Given the description of an element on the screen output the (x, y) to click on. 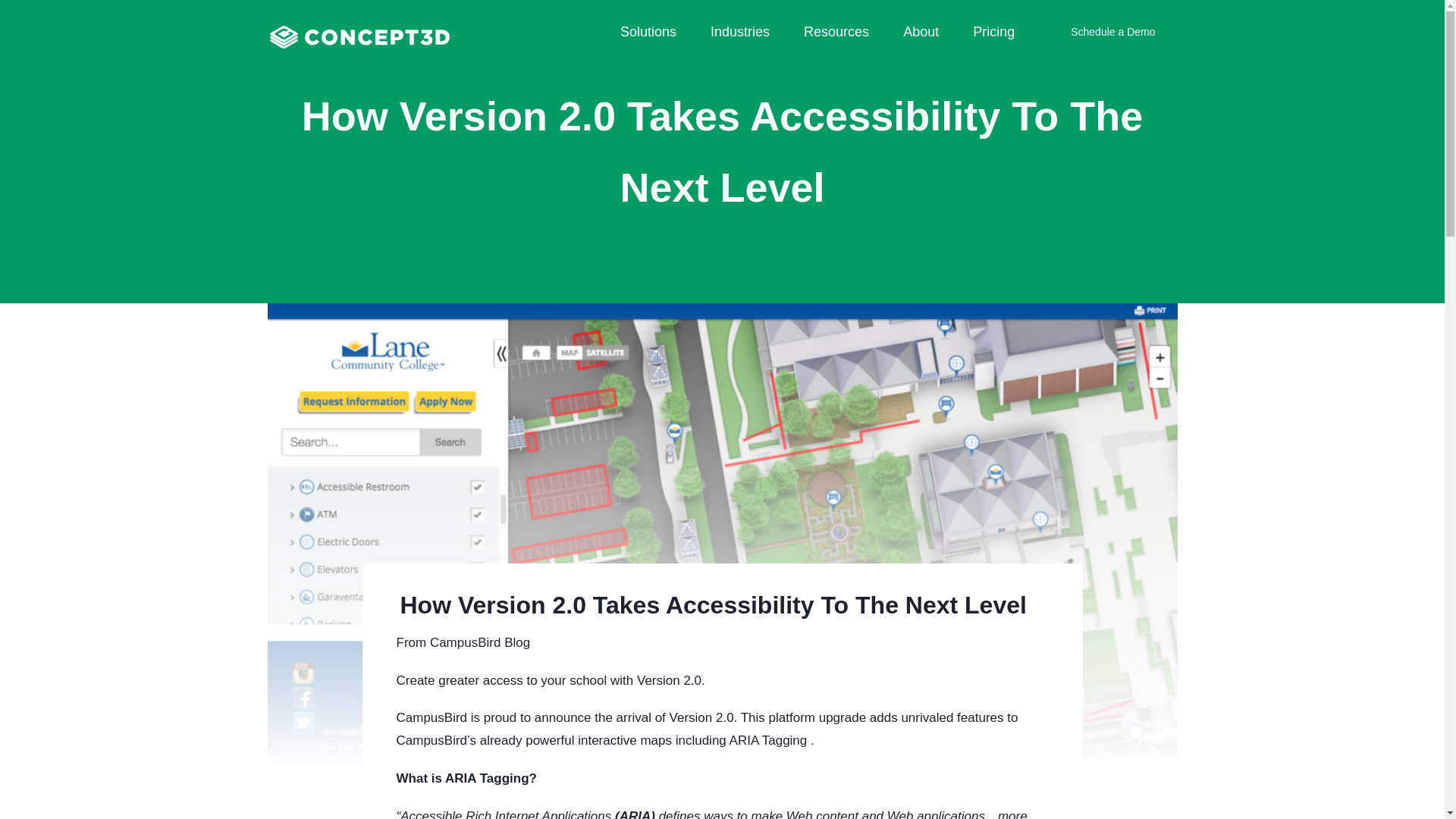
Solutions (648, 31)
Industries (740, 31)
